Given the description of an element on the screen output the (x, y) to click on. 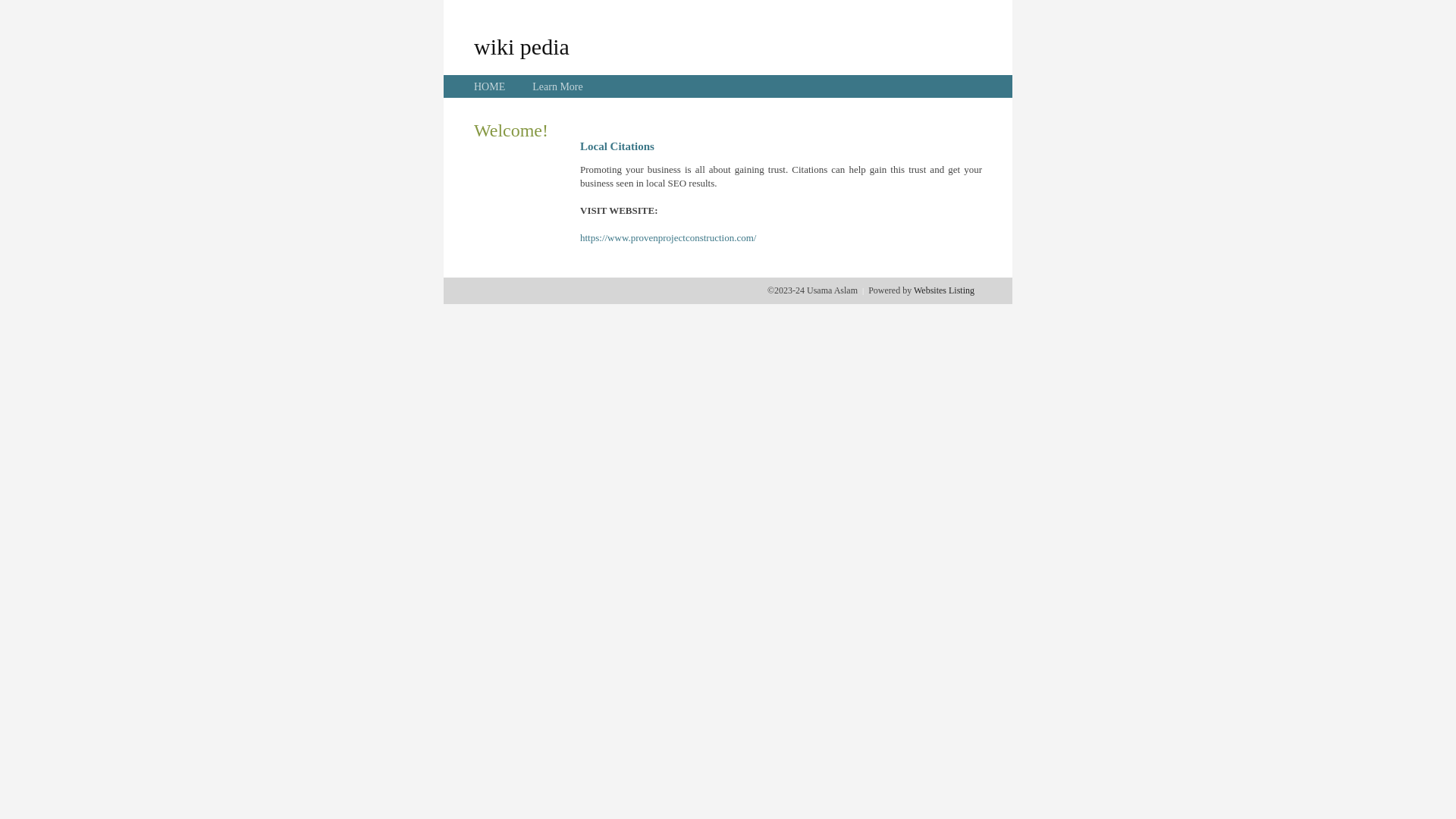
HOME Element type: text (489, 86)
Websites Listing Element type: text (943, 290)
Learn More Element type: text (557, 86)
https://www.provenprojectconstruction.com/ Element type: text (668, 237)
wiki pedia Element type: text (521, 46)
